Given the description of an element on the screen output the (x, y) to click on. 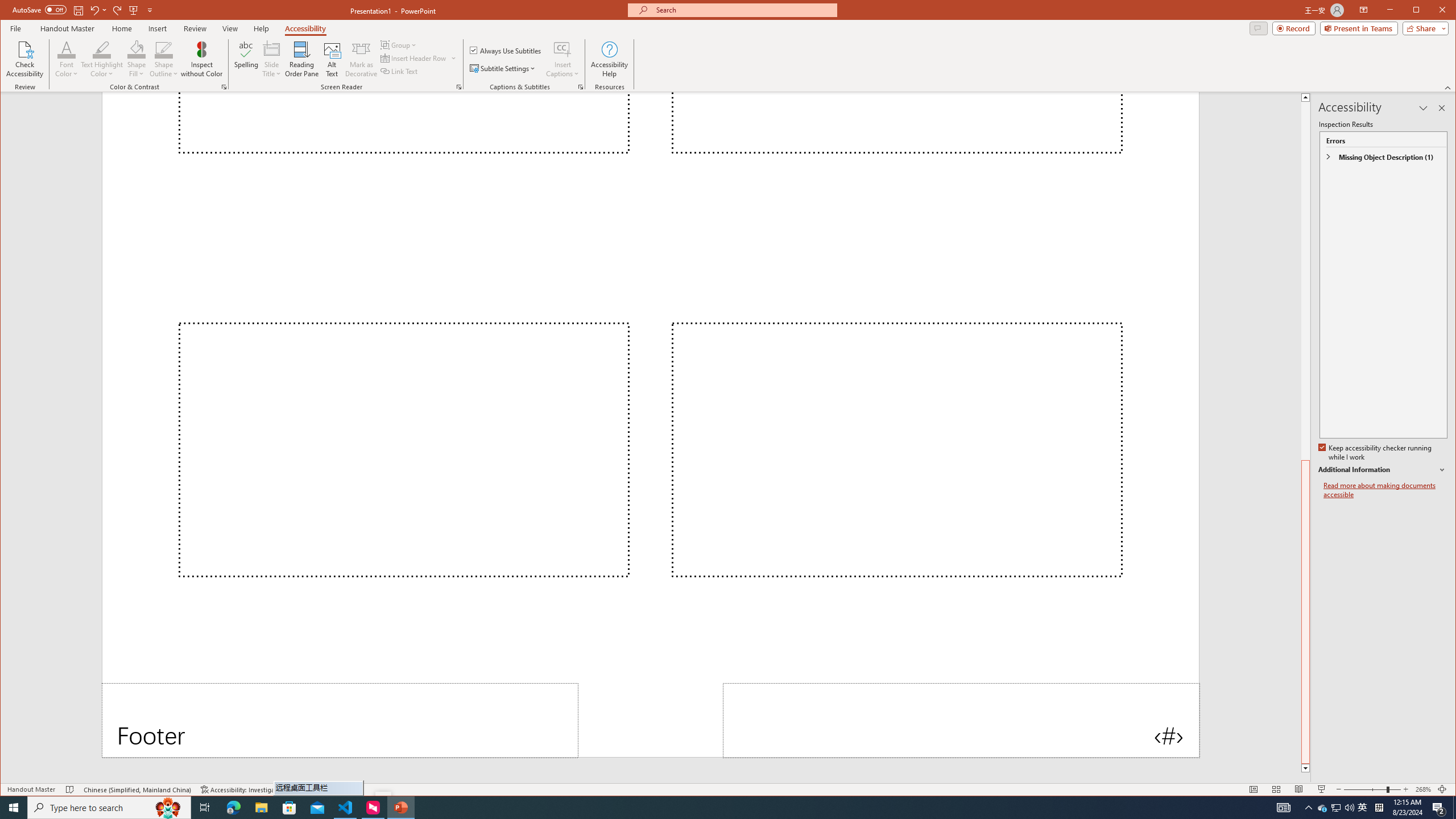
Additional Information (1382, 469)
Undo (94, 9)
Handout Master (67, 28)
Action Center, 2 new notifications (1439, 807)
Shape Outline Blue, Accent 1 (163, 48)
Tray Input Indicator - Chinese (Simplified, China) (1378, 807)
AutomationID: 4105 (1283, 807)
Insert Header Row (418, 57)
Slide Sorter (1276, 789)
Help (261, 28)
Insert Header Row (413, 57)
Captions & Subtitles (580, 86)
Notification Chevron (1308, 807)
